Given the description of an element on the screen output the (x, y) to click on. 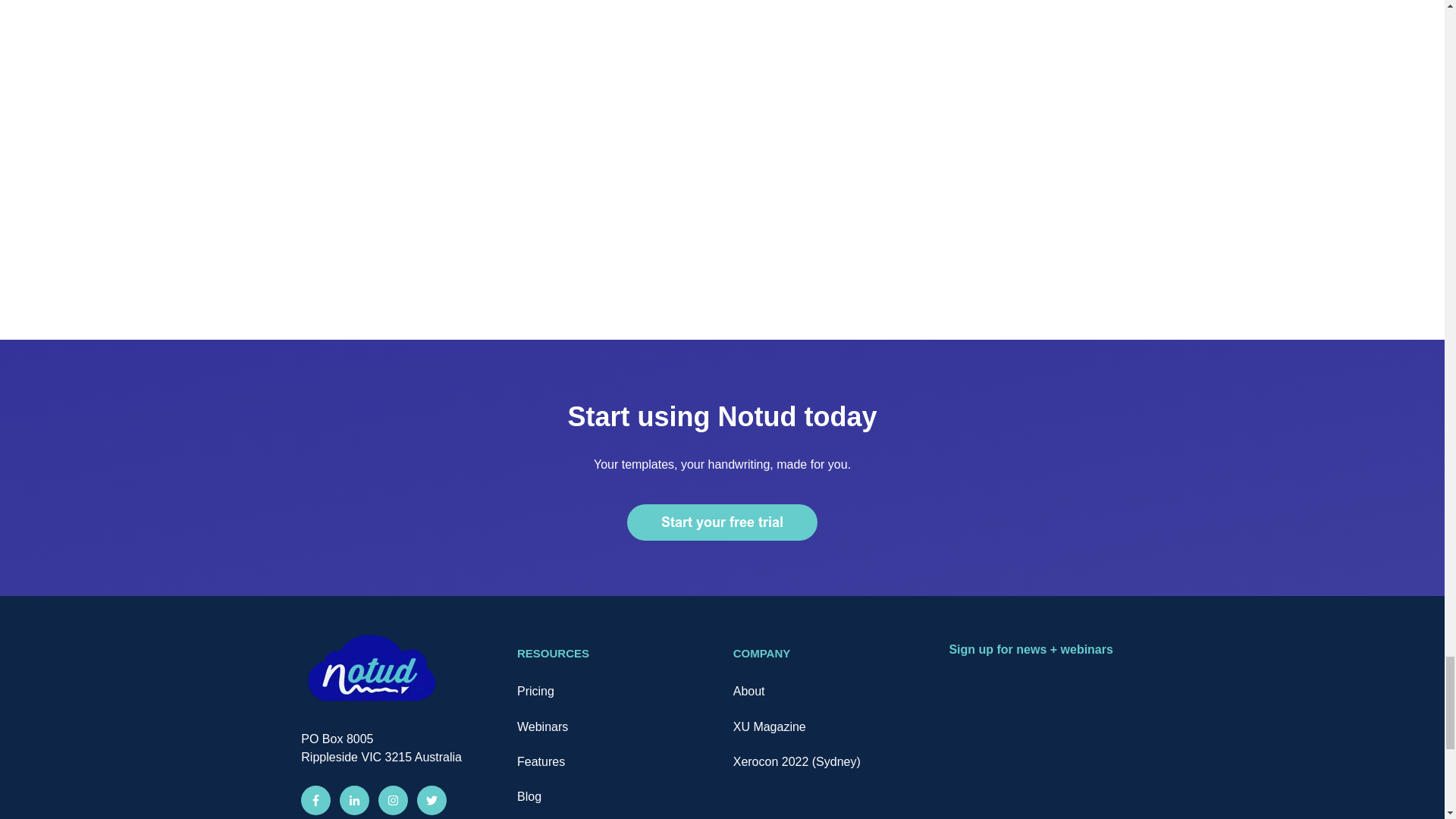
Features (540, 761)
About (749, 690)
Pricing (535, 690)
XU Magazine (769, 726)
Webinars (541, 726)
Blog (528, 796)
